Given the description of an element on the screen output the (x, y) to click on. 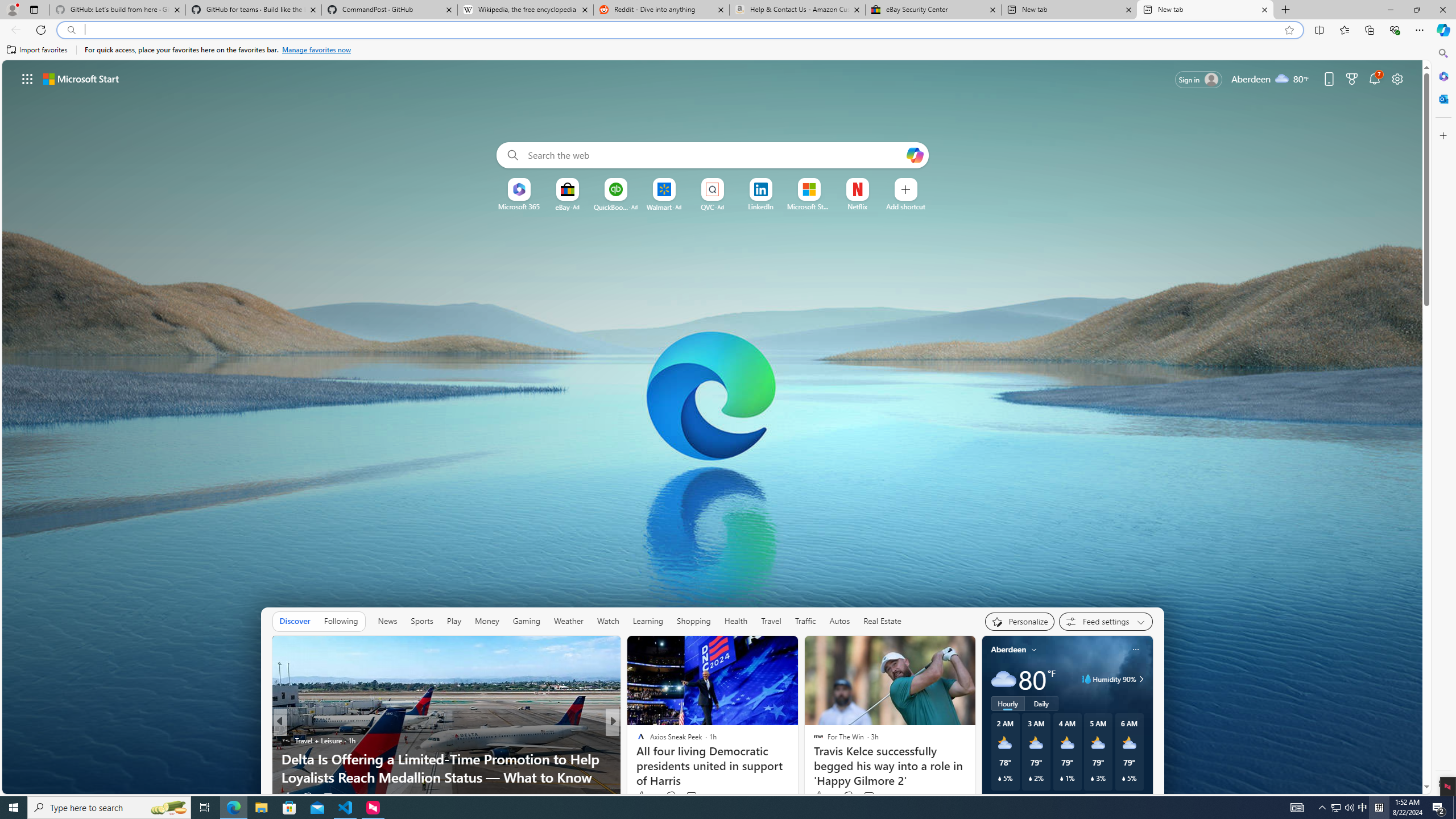
Like (286, 796)
Class: icon-img (1135, 649)
Import favorites (36, 49)
Sports (421, 621)
Personalize your feed" (1019, 621)
Humidity 90% (1139, 678)
29 Like (642, 796)
Yardbarker (635, 740)
Class: weather-arrow-glyph (1141, 678)
Hide this story (585, 649)
